Given the description of an element on the screen output the (x, y) to click on. 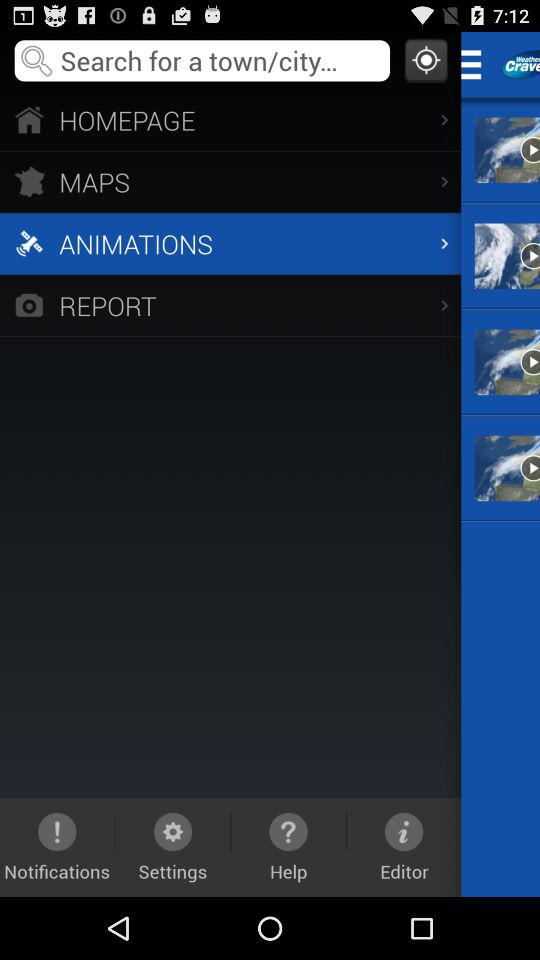
click the app above report (230, 243)
